Given the description of an element on the screen output the (x, y) to click on. 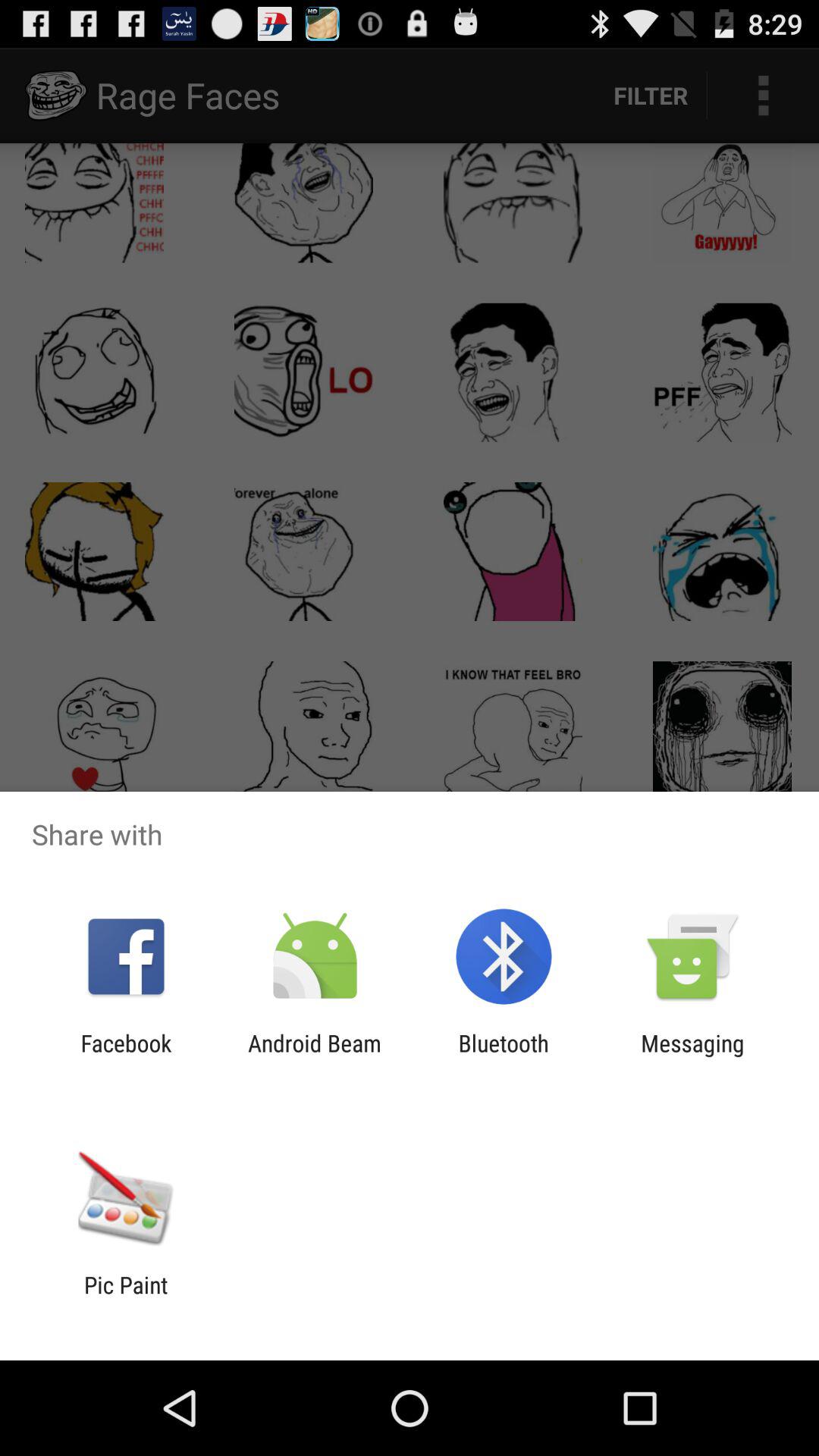
click android beam app (314, 1056)
